Given the description of an element on the screen output the (x, y) to click on. 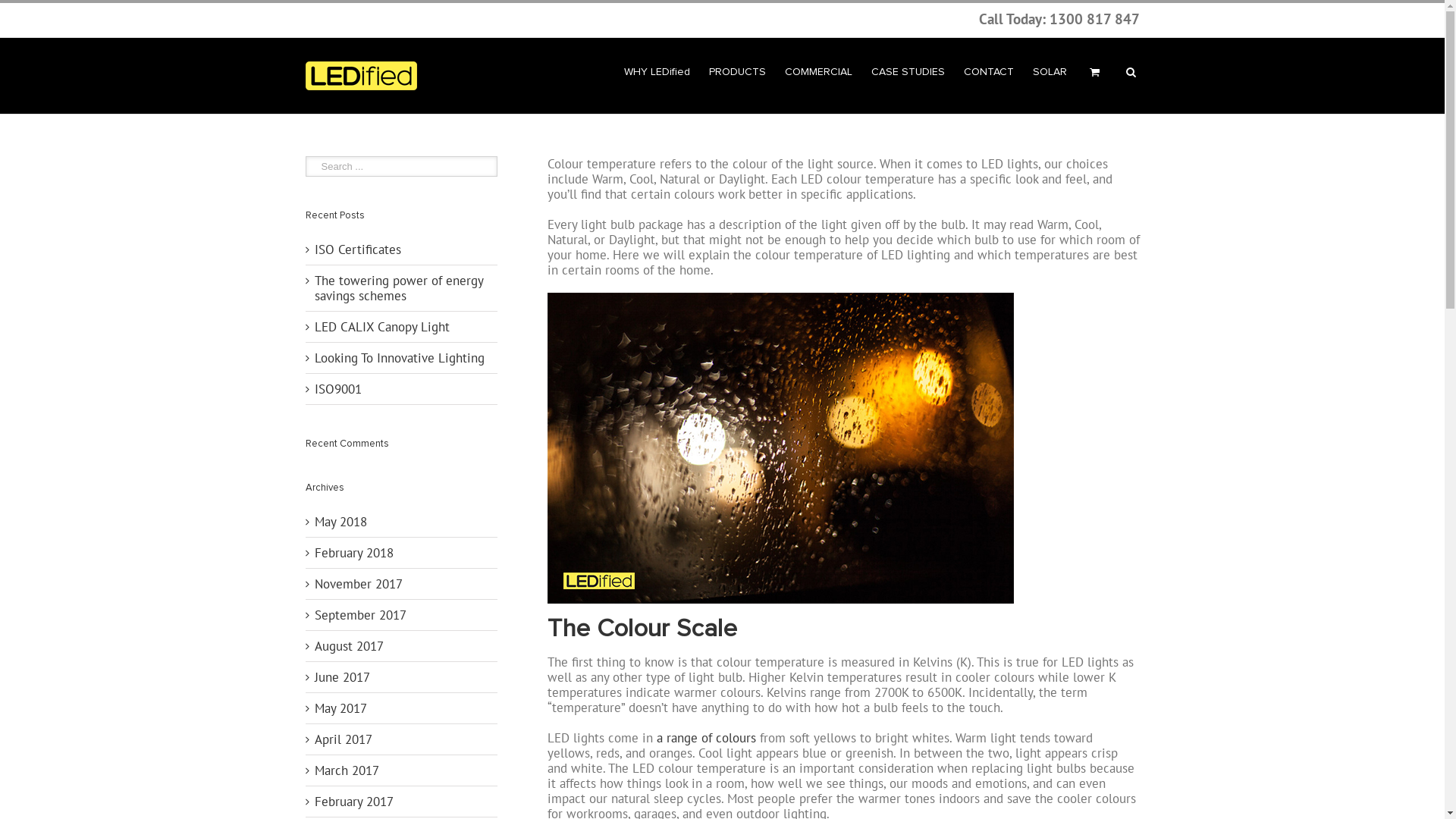
WHY LEDified Element type: text (656, 70)
May 2018 Element type: text (339, 521)
PRODUCTS Element type: text (736, 70)
COMMERCIAL Element type: text (817, 70)
February 2017 Element type: text (352, 801)
Looking To Innovative Lighting Element type: text (398, 357)
November 2017 Element type: text (357, 583)
April 2017 Element type: text (342, 739)
May 2017 Element type: text (339, 707)
August 2017 Element type: text (347, 645)
ISO9001 Element type: text (336, 388)
ISO Certificates Element type: text (356, 249)
CASE STUDIES Element type: text (907, 70)
LED CALIX Canopy Light Element type: text (380, 326)
a range of colours Element type: text (706, 737)
CONTACT Element type: text (988, 70)
The towering power of energy savings schemes Element type: text (397, 288)
SOLAR Element type: text (1049, 70)
June 2017 Element type: text (341, 676)
September 2017 Element type: text (359, 614)
February 2018 Element type: text (352, 552)
March 2017 Element type: text (345, 770)
